Given the description of an element on the screen output the (x, y) to click on. 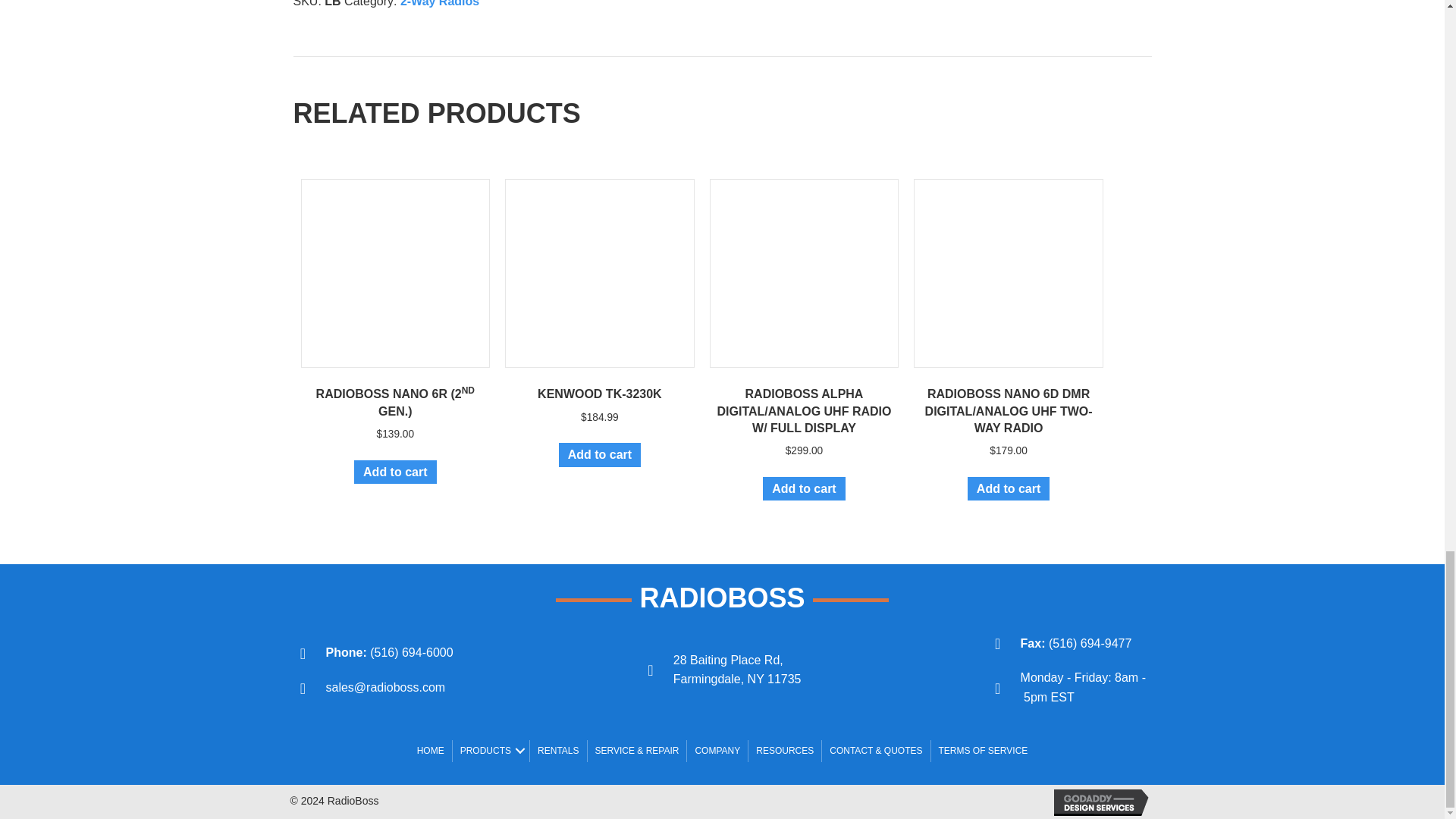
Add to cart (394, 472)
2-Way Radios (439, 3)
Add to cart (1008, 488)
Add to cart (803, 488)
RADIOBOSS (721, 597)
Add to cart (599, 454)
